Given the description of an element on the screen output the (x, y) to click on. 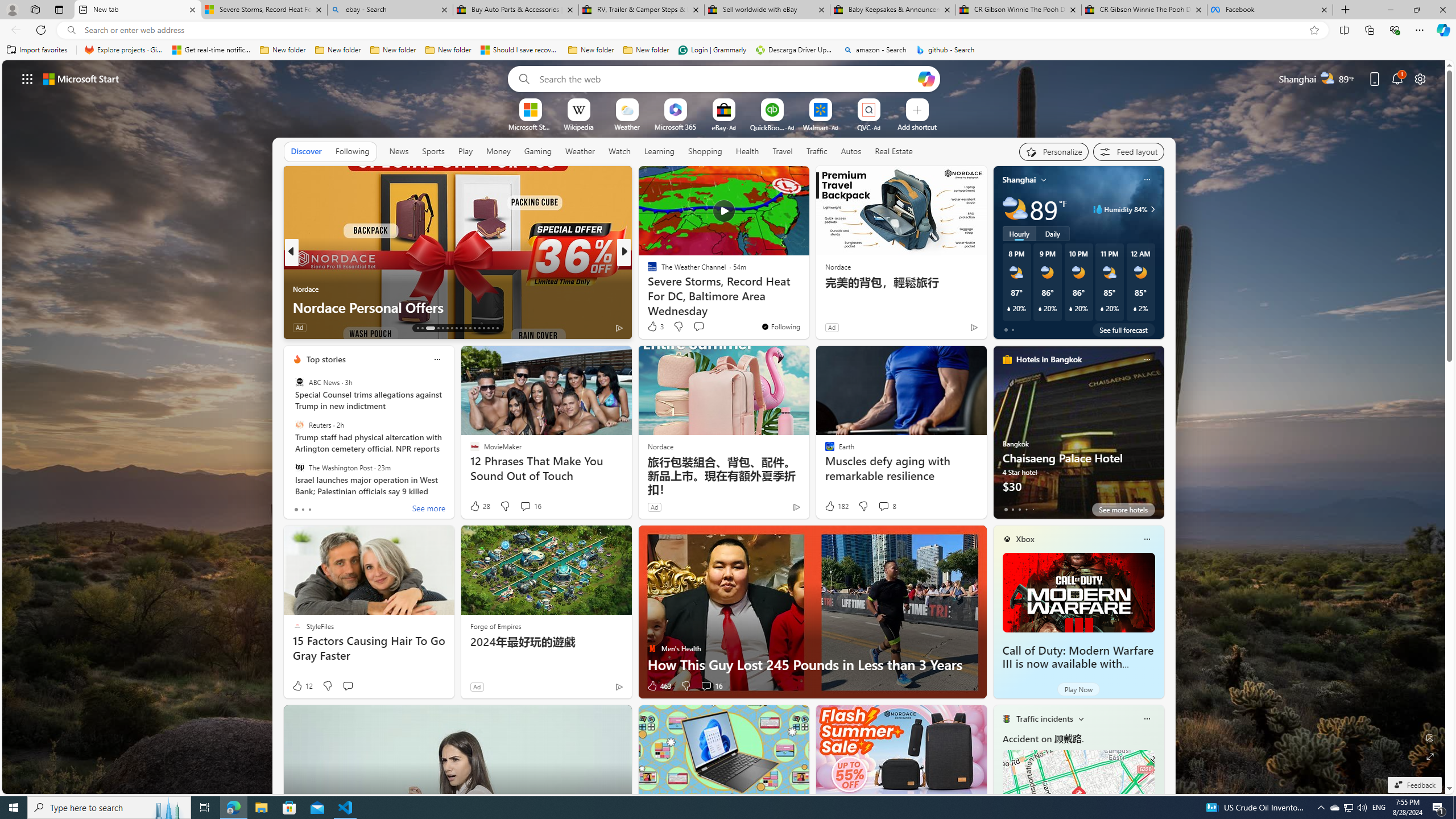
Partly cloudy (1014, 208)
20 Activities People Over 60 Should Skip (807, 307)
